Given the description of an element on the screen output the (x, y) to click on. 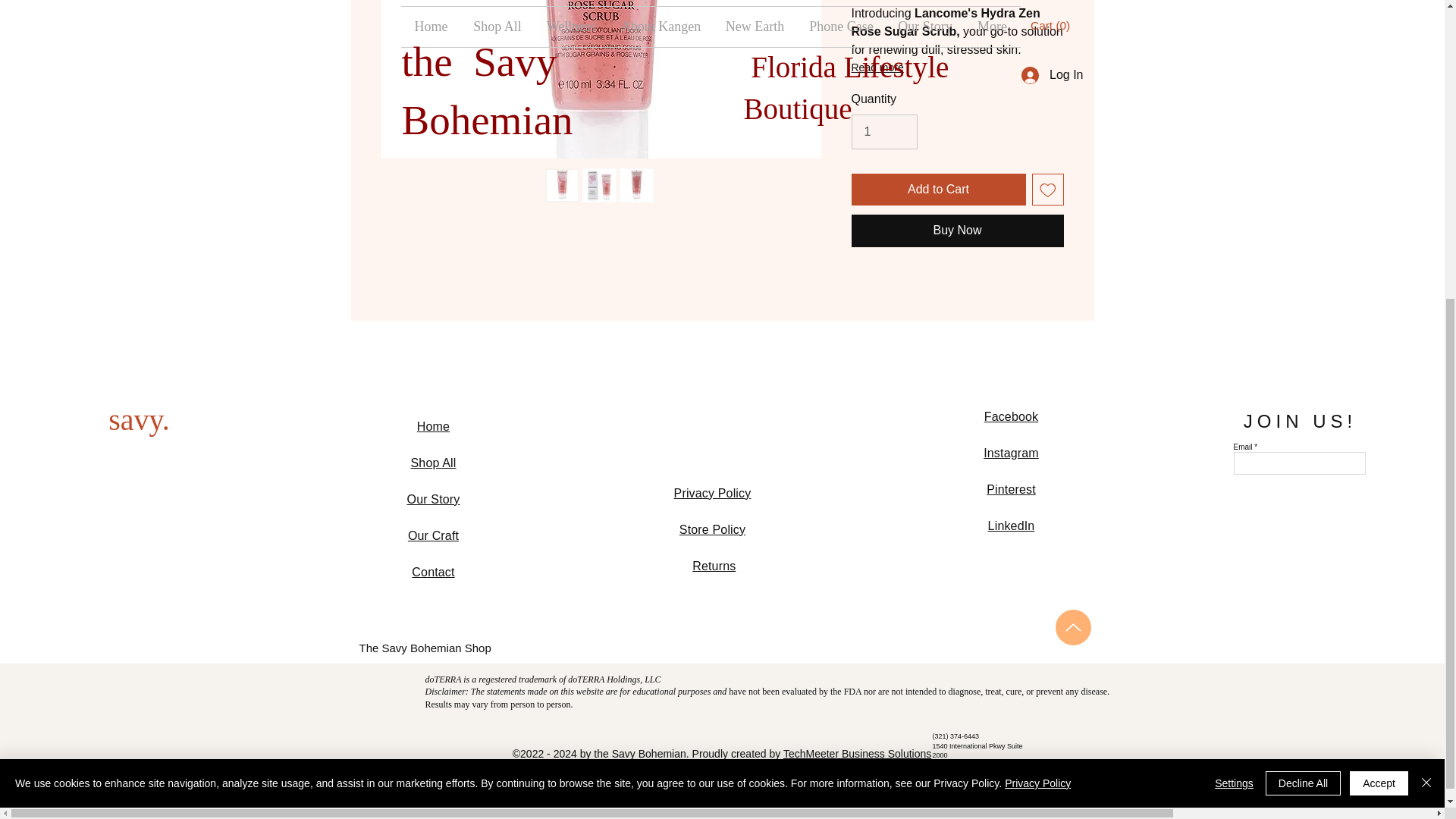
Add to Cart (937, 189)
1 (883, 131)
Read more (956, 67)
